Given the description of an element on the screen output the (x, y) to click on. 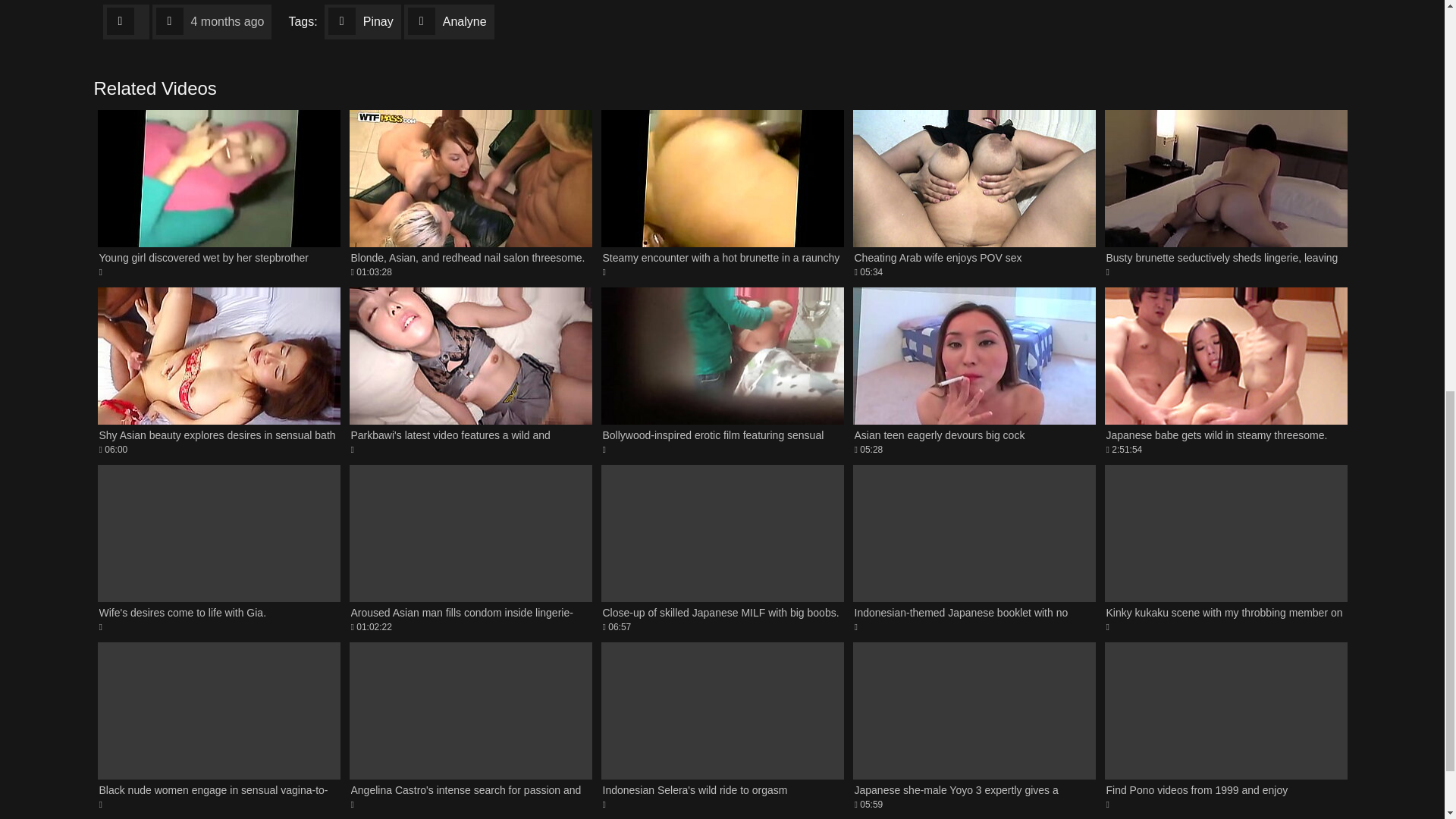
Angelina Castro's intense search for passion and pleasure. (470, 726)
Wife's desires come to life with Gia. (218, 549)
Steamy encounter with a hot brunette in a raunchy BMW scene. (721, 192)
Kinky kukaku scene with my throbbing member on display. (1224, 549)
Black nude women engage in sensual vagina-to-vagina play. (218, 726)
Shy Asian beauty explores desires in sensual bath (218, 371)
Find Pono videos from 1999 and enjoy (1224, 726)
Young girl discovered wet by her stepbrother (218, 192)
Indonesian Selera's wild ride to orgasm (721, 726)
Analyne (449, 21)
